Given the description of an element on the screen output the (x, y) to click on. 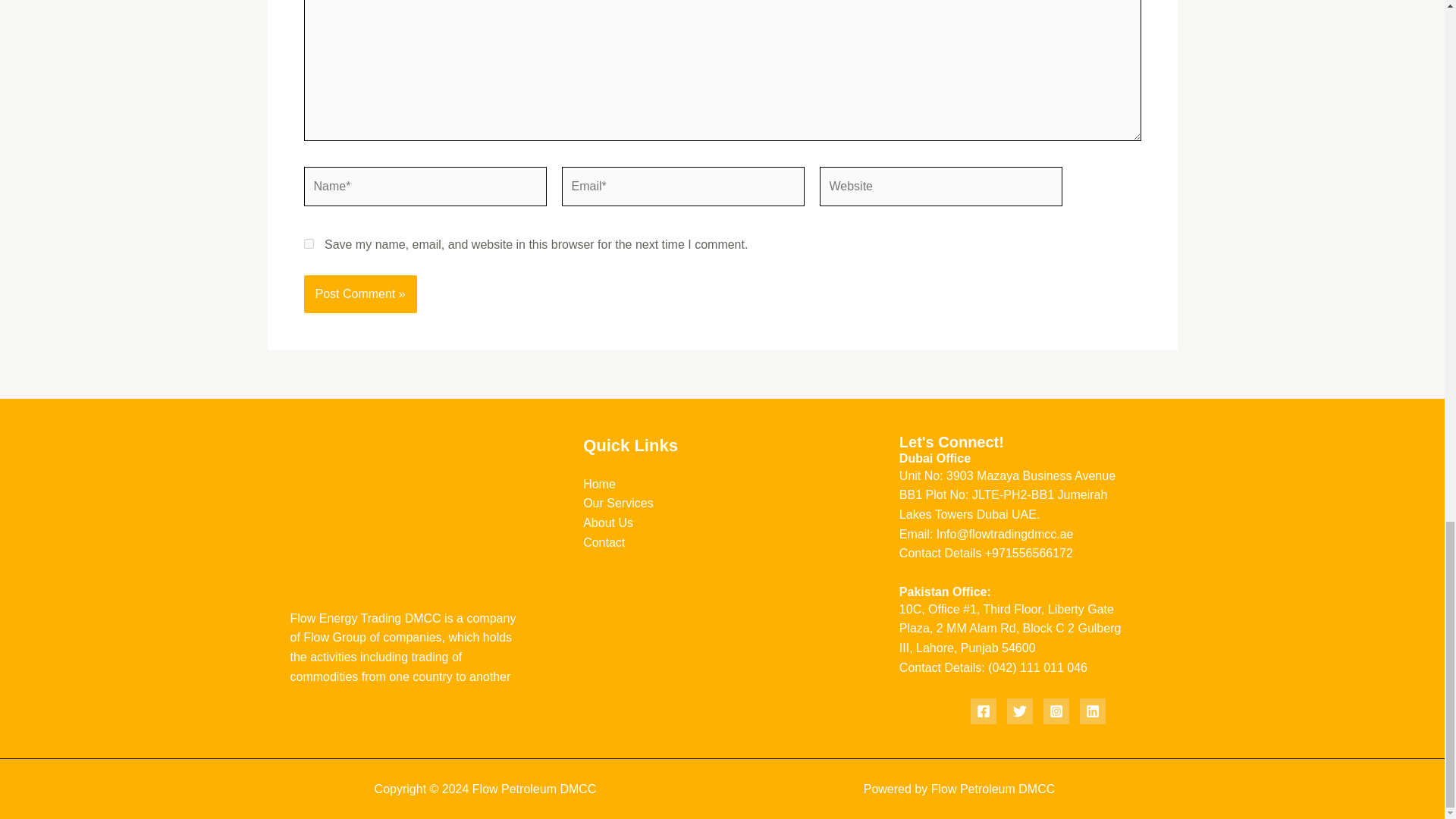
Contact (603, 542)
Flow Petroleum DMCC (993, 788)
Our Services (617, 502)
About Us (608, 522)
Home (599, 483)
yes (307, 243)
